Given the description of an element on the screen output the (x, y) to click on. 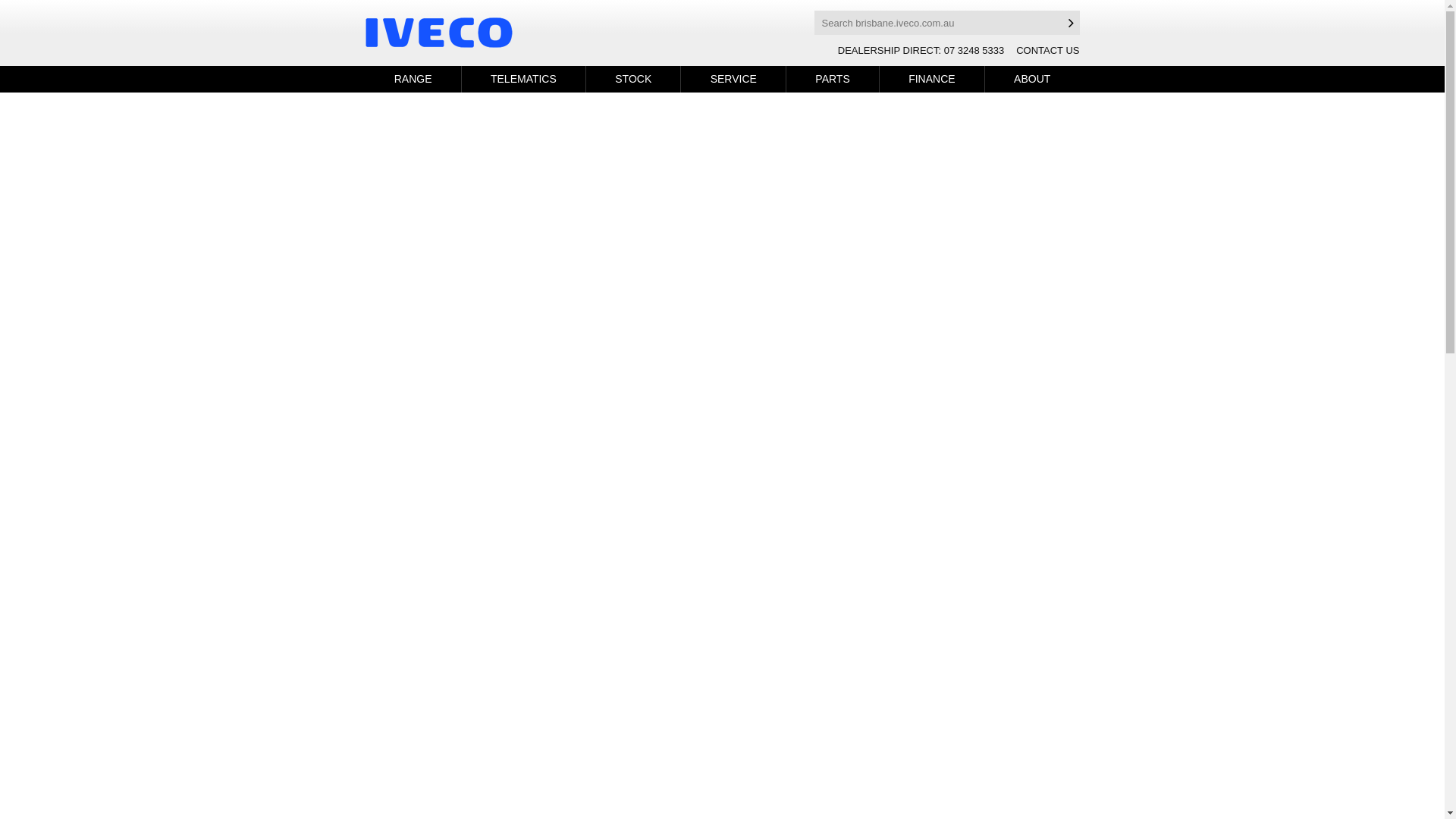
PARTS Element type: text (832, 78)
STOCK Element type: text (633, 78)
SERVICE Element type: text (732, 78)
Search Element type: text (1071, 22)
FINANCE Element type: text (931, 78)
RANGE Element type: text (413, 78)
ABOUT Element type: text (1032, 78)
TELEMATICS Element type: text (523, 78)
CONTACT US Element type: text (1047, 50)
DEALERSHIP DIRECT: 07 3248 5333 Element type: text (920, 50)
